Given the description of an element on the screen output the (x, y) to click on. 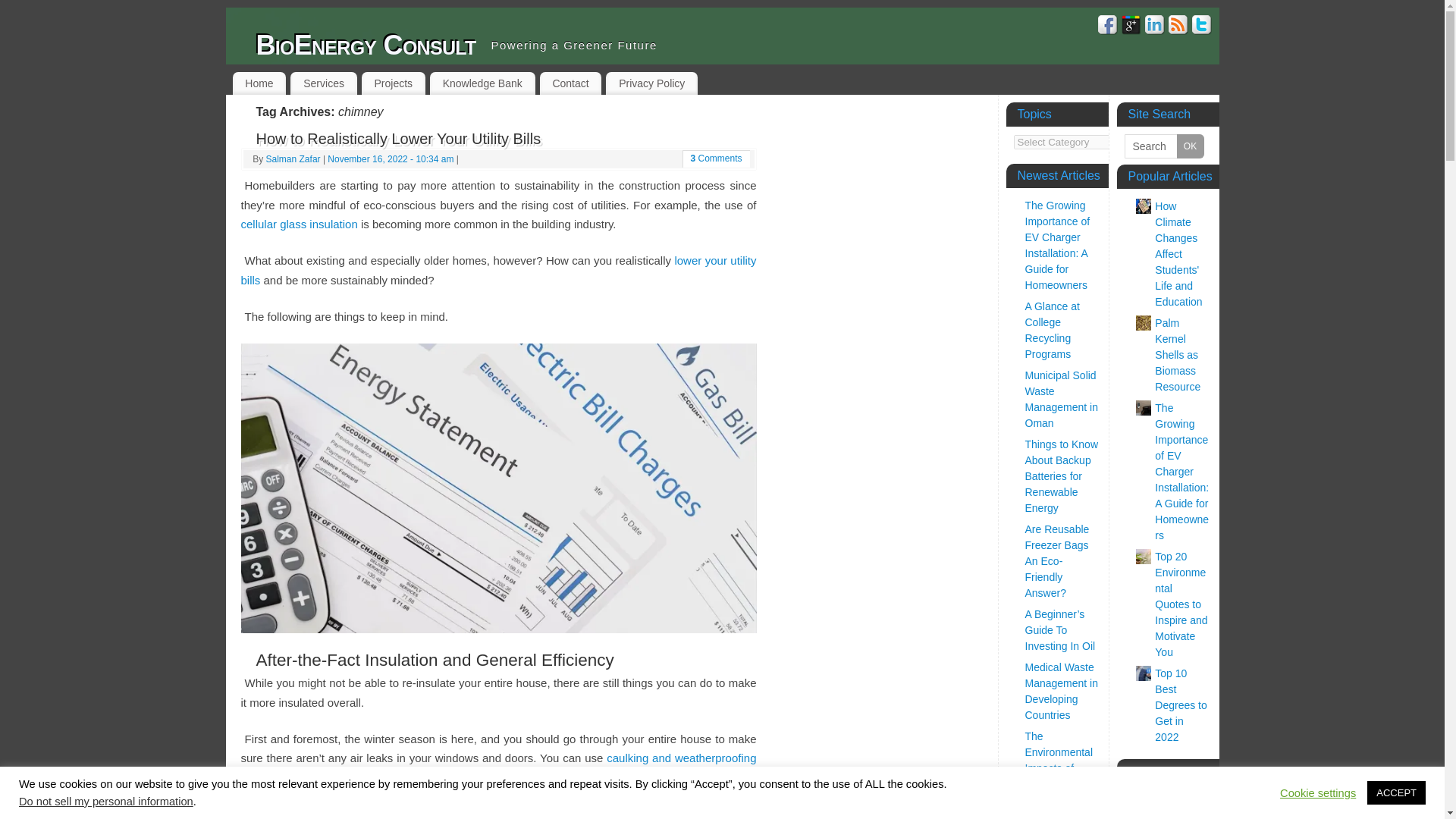
Search (1164, 146)
lower your utility bills (499, 269)
November 16, 2022 - 10:34 am (389, 158)
Contact (571, 83)
caulking and weatherproofing strips (499, 767)
Services (322, 83)
BioEnergy Consult (366, 44)
BioEnergy Consult (366, 44)
How to Realistically Lower Your Utility Bills (398, 138)
Projects (393, 83)
